Given the description of an element on the screen output the (x, y) to click on. 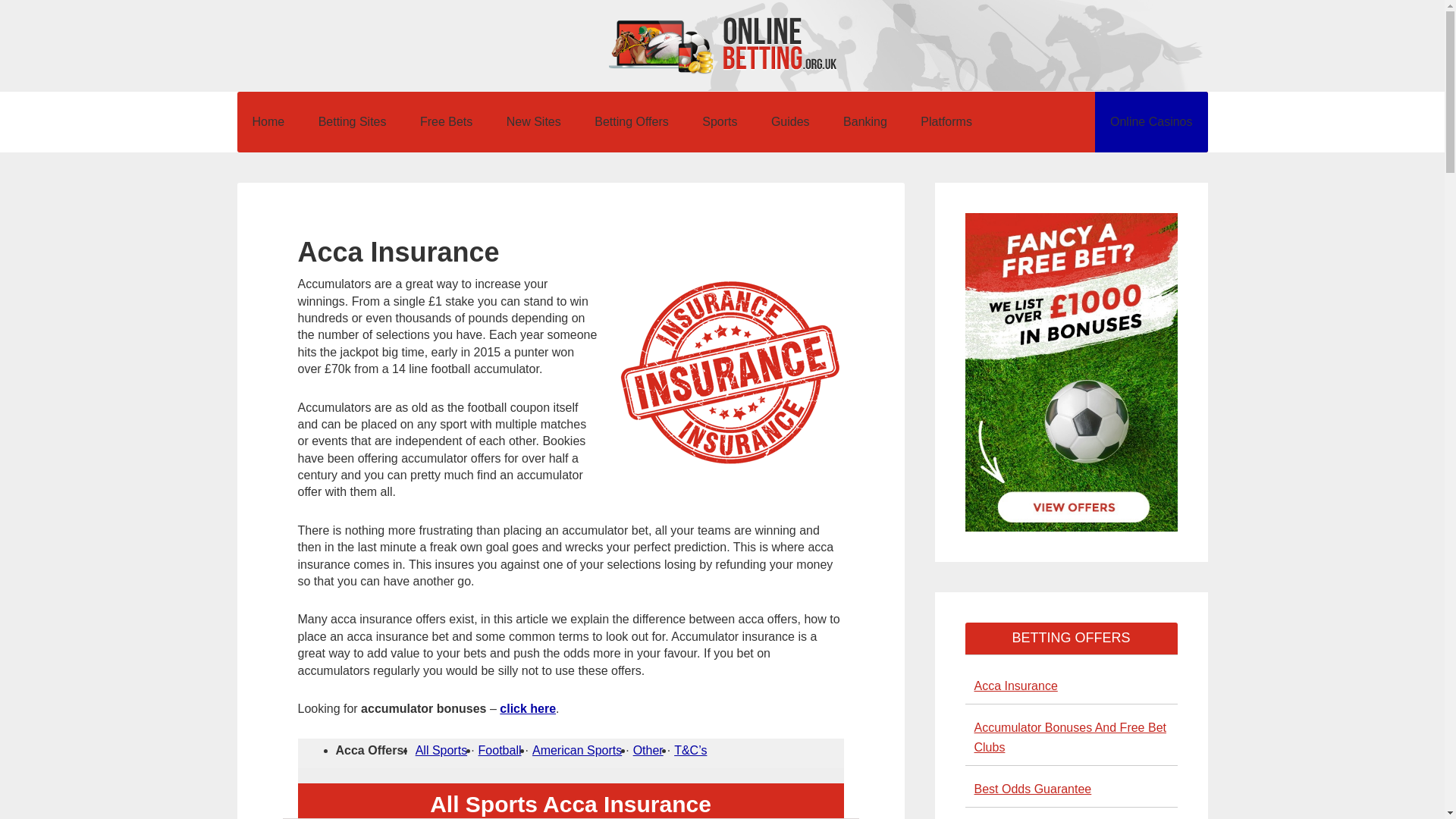
Platforms (946, 121)
Best Odds Guarantee (1032, 788)
American Sports (576, 749)
Banking (865, 121)
Sports (719, 121)
Other (648, 749)
Free Bets (445, 121)
Football (500, 749)
Home (267, 121)
Betting Sites (351, 121)
Online Casinos (1151, 121)
Accumulator Bonuses And Free Bet Clubs (1070, 737)
Acca Insurance (1015, 685)
Betting Offers (631, 121)
